Given the description of an element on the screen output the (x, y) to click on. 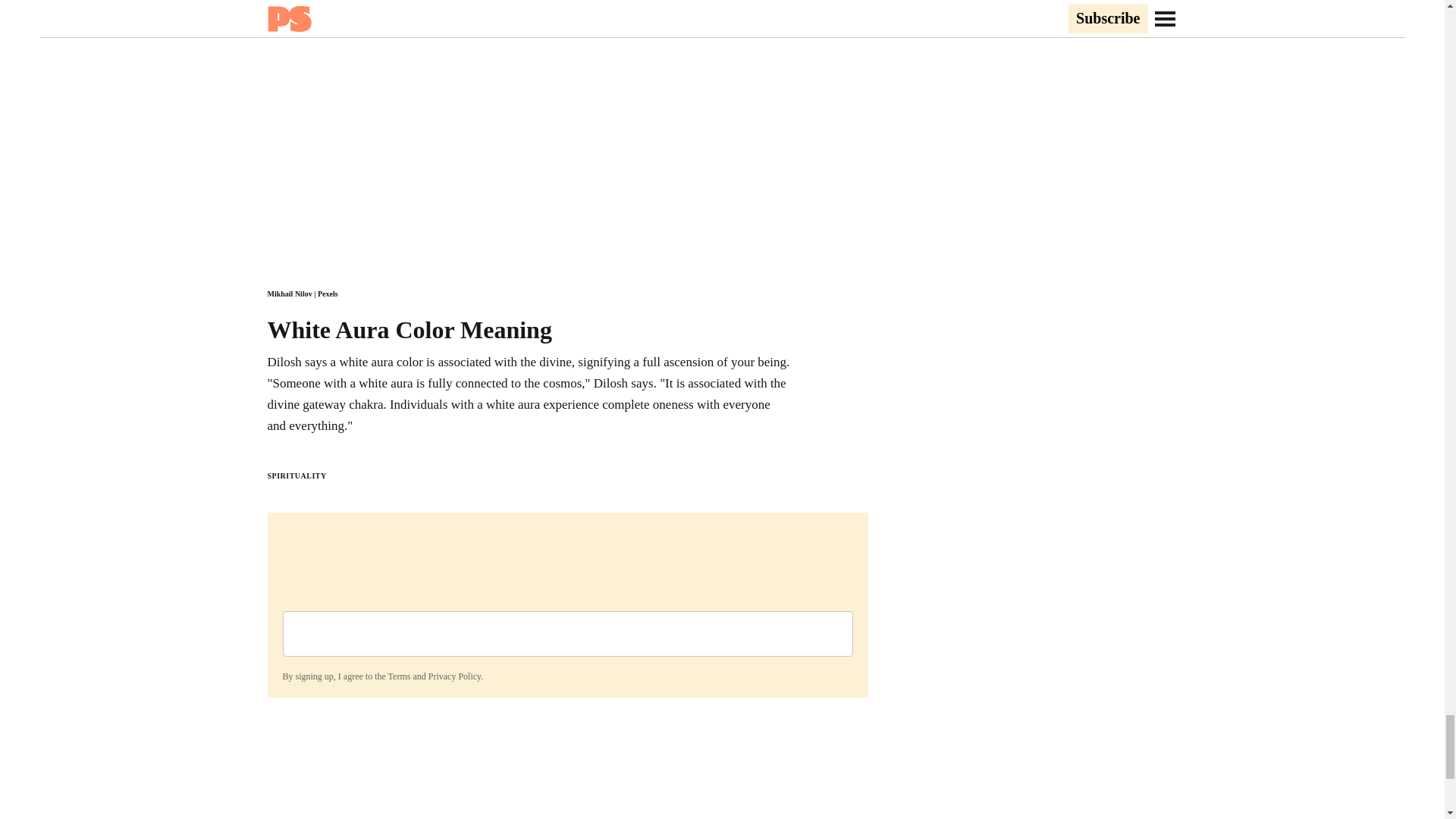
Privacy Policy. (455, 675)
Terms (399, 675)
SPIRITUALITY (296, 475)
